Given the description of an element on the screen output the (x, y) to click on. 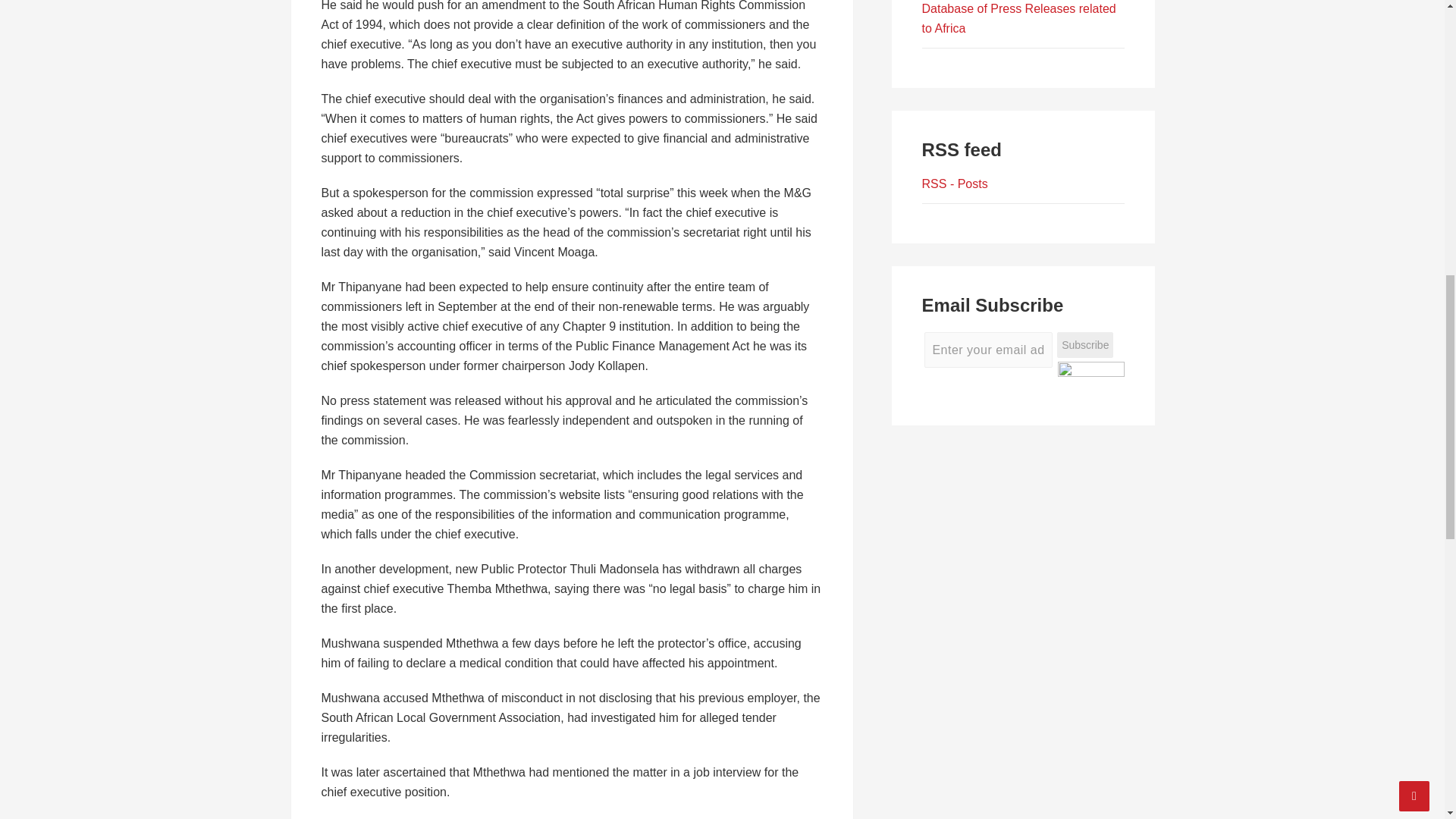
APO-Source (1018, 18)
Subscribe (1085, 345)
Subscribe to posts (954, 183)
